Given the description of an element on the screen output the (x, y) to click on. 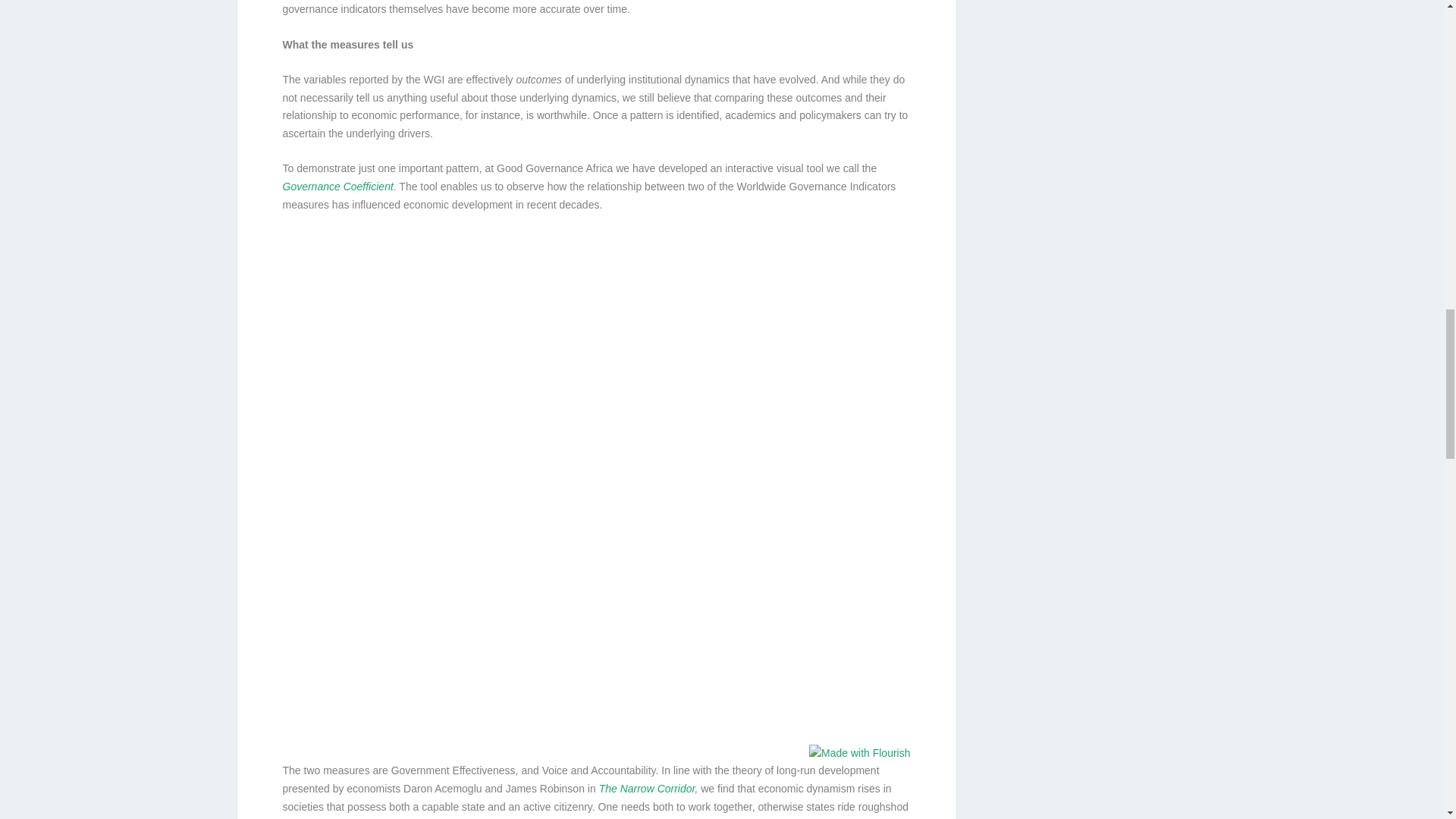
The Narrow Corridor (646, 788)
Governance Coefficient (337, 186)
